Given the description of an element on the screen output the (x, y) to click on. 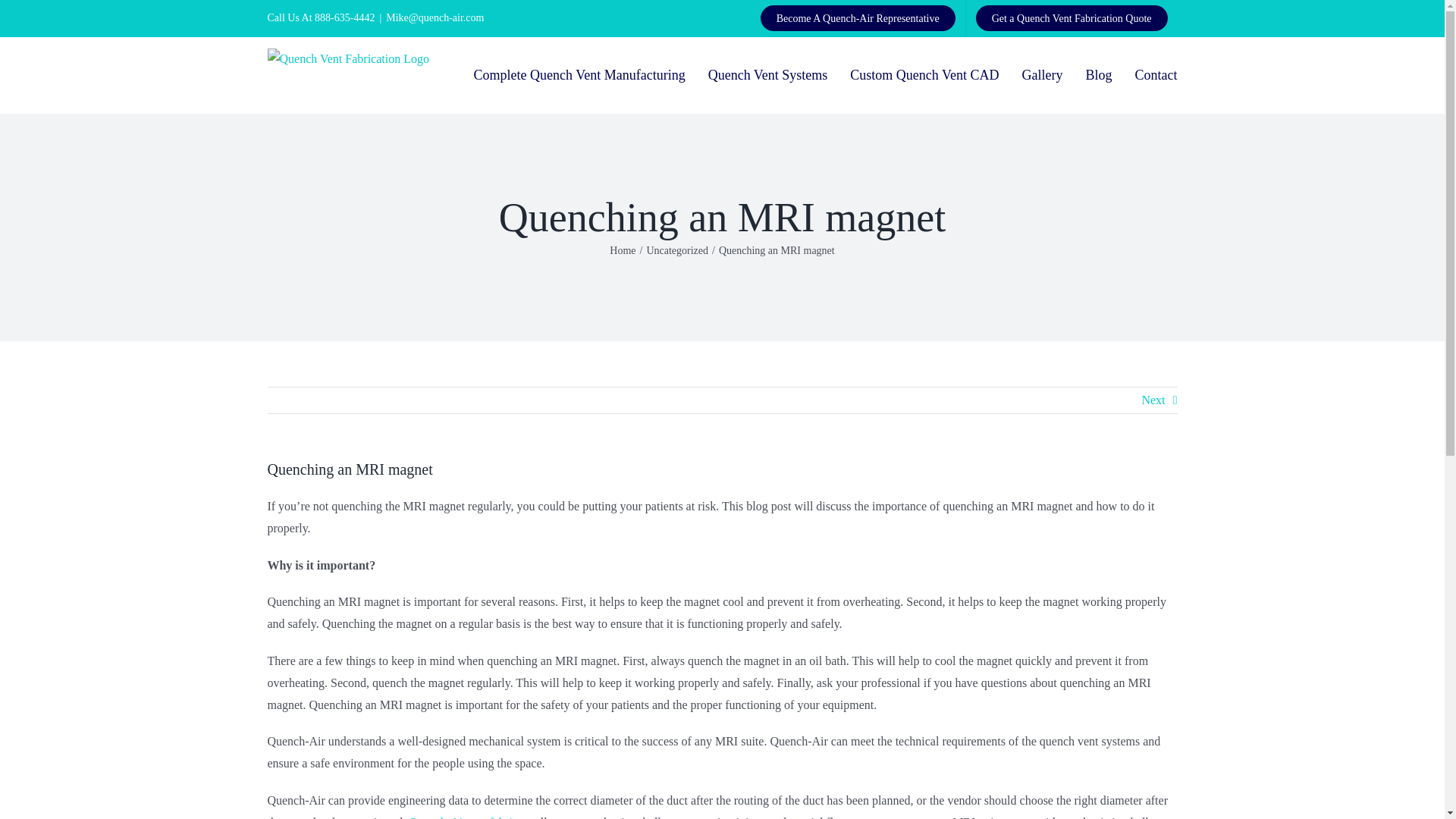
Quench Vent Systems (767, 74)
Next (1152, 400)
Quench-Air can fabricate (470, 817)
Become A Quench-Air Representative (858, 18)
Uncategorized (676, 250)
Custom Quench Vent CAD (924, 74)
Home (622, 250)
Get a Quench Vent Fabrication Quote (1071, 18)
Complete Quench Vent Manufacturing (579, 74)
